Given the description of an element on the screen output the (x, y) to click on. 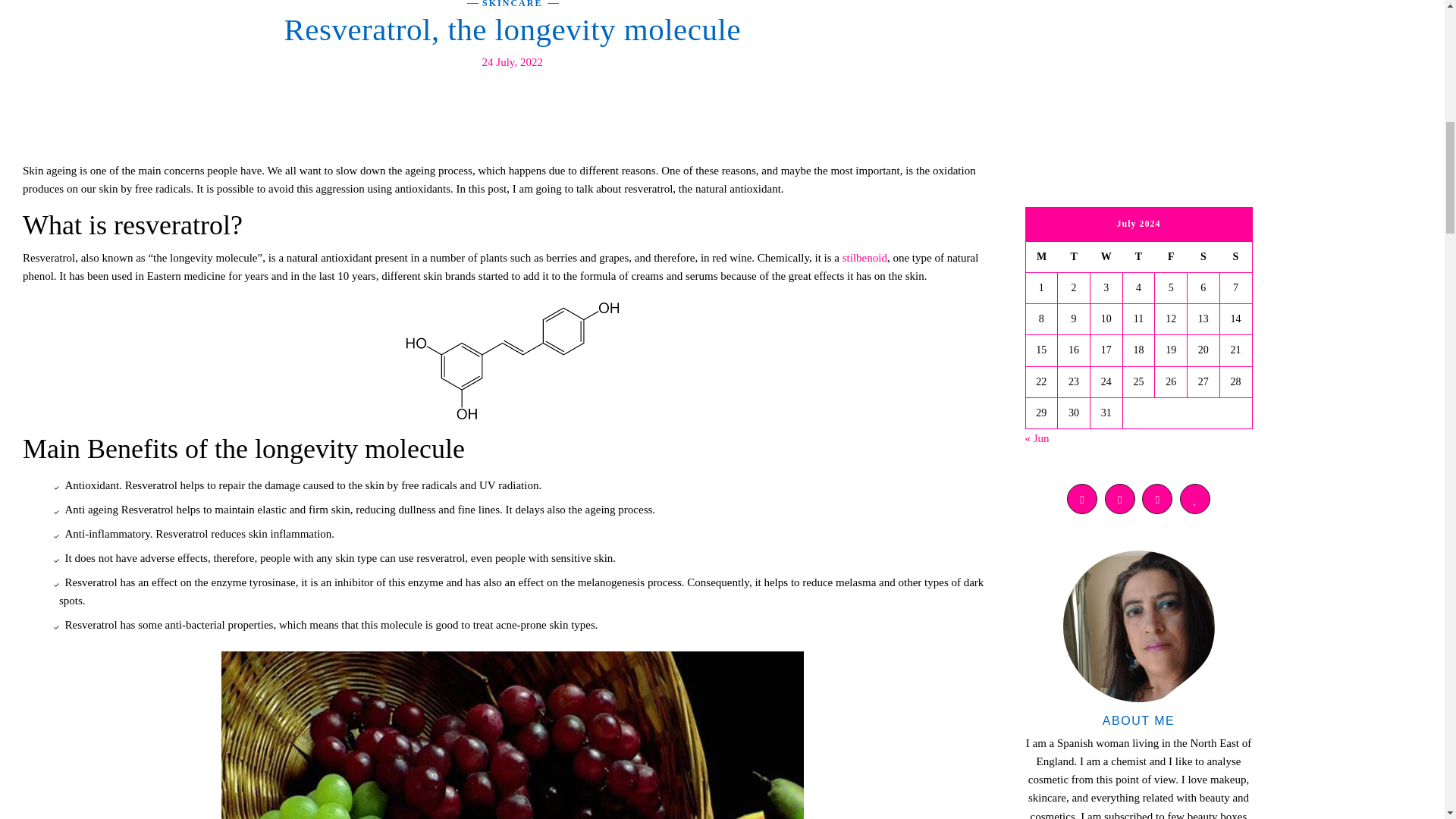
Tuesday (1074, 255)
Thursday (1138, 255)
Advertisement (1138, 69)
Wednesday (1105, 255)
Monday (1041, 255)
Friday (1171, 255)
Saturday (1204, 255)
